Given the description of an element on the screen output the (x, y) to click on. 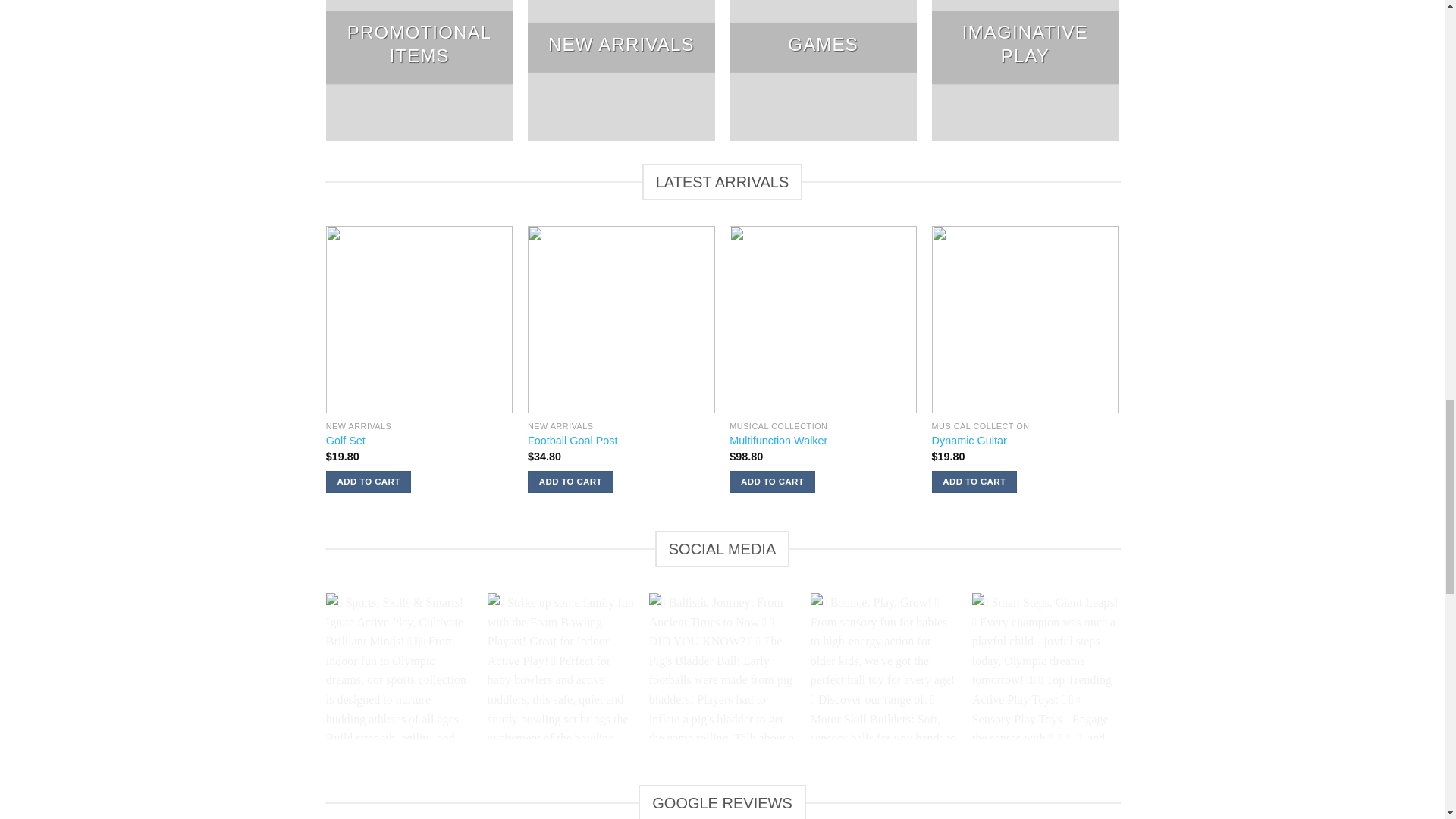
IMAGINATIVE PLAY (1025, 70)
NEW ARRIVALS (620, 70)
GAMES (823, 70)
PROMOTIONAL ITEMS (419, 70)
LEARNING (1227, 70)
